Given the description of an element on the screen output the (x, y) to click on. 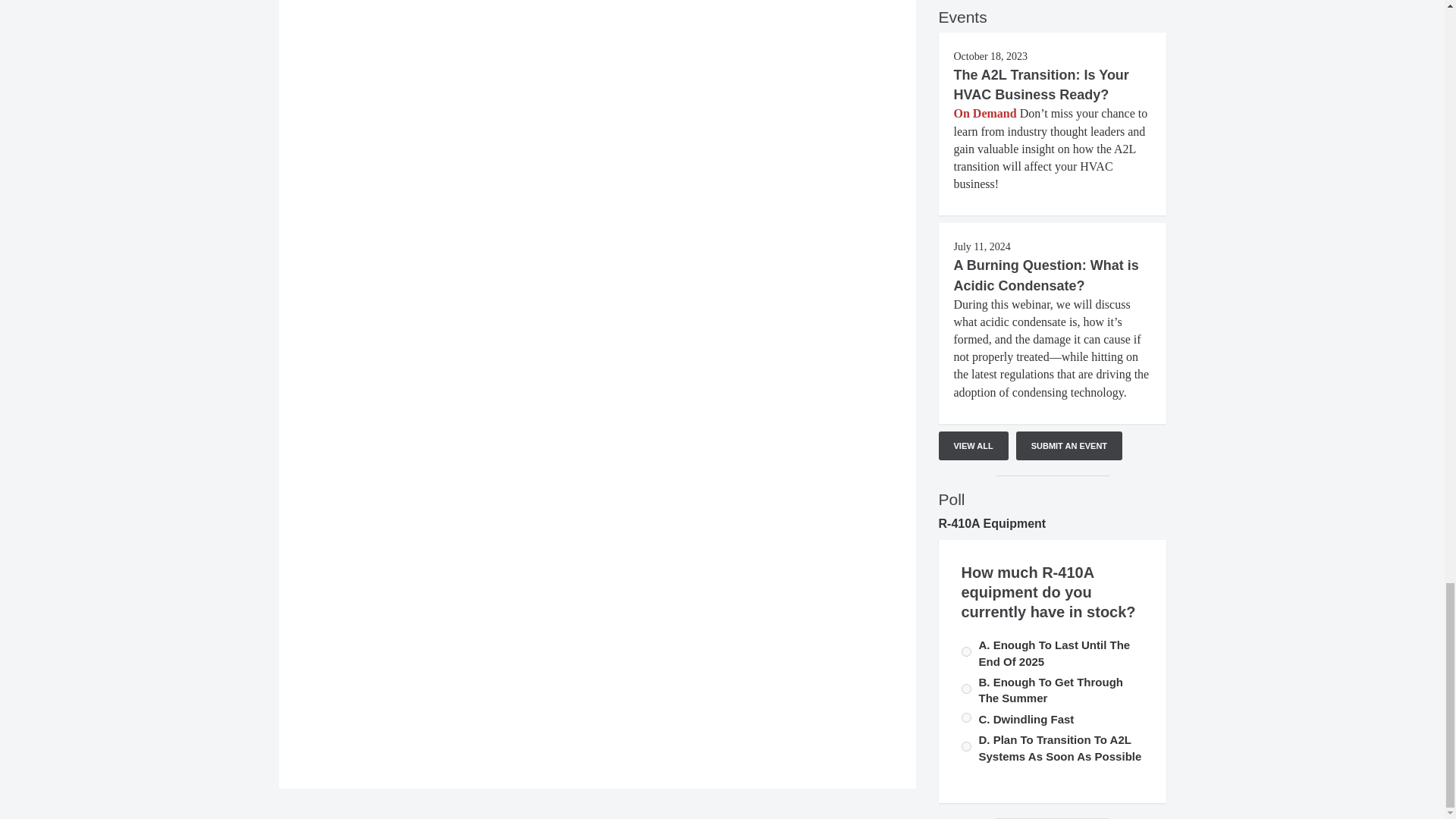
599 (965, 746)
597 (965, 651)
598 (965, 717)
The A2L Transition: Is Your HVAC Business Ready? (1041, 84)
A Burning Question: What is Acidic Condensate? (1045, 274)
596 (965, 688)
